Given the description of an element on the screen output the (x, y) to click on. 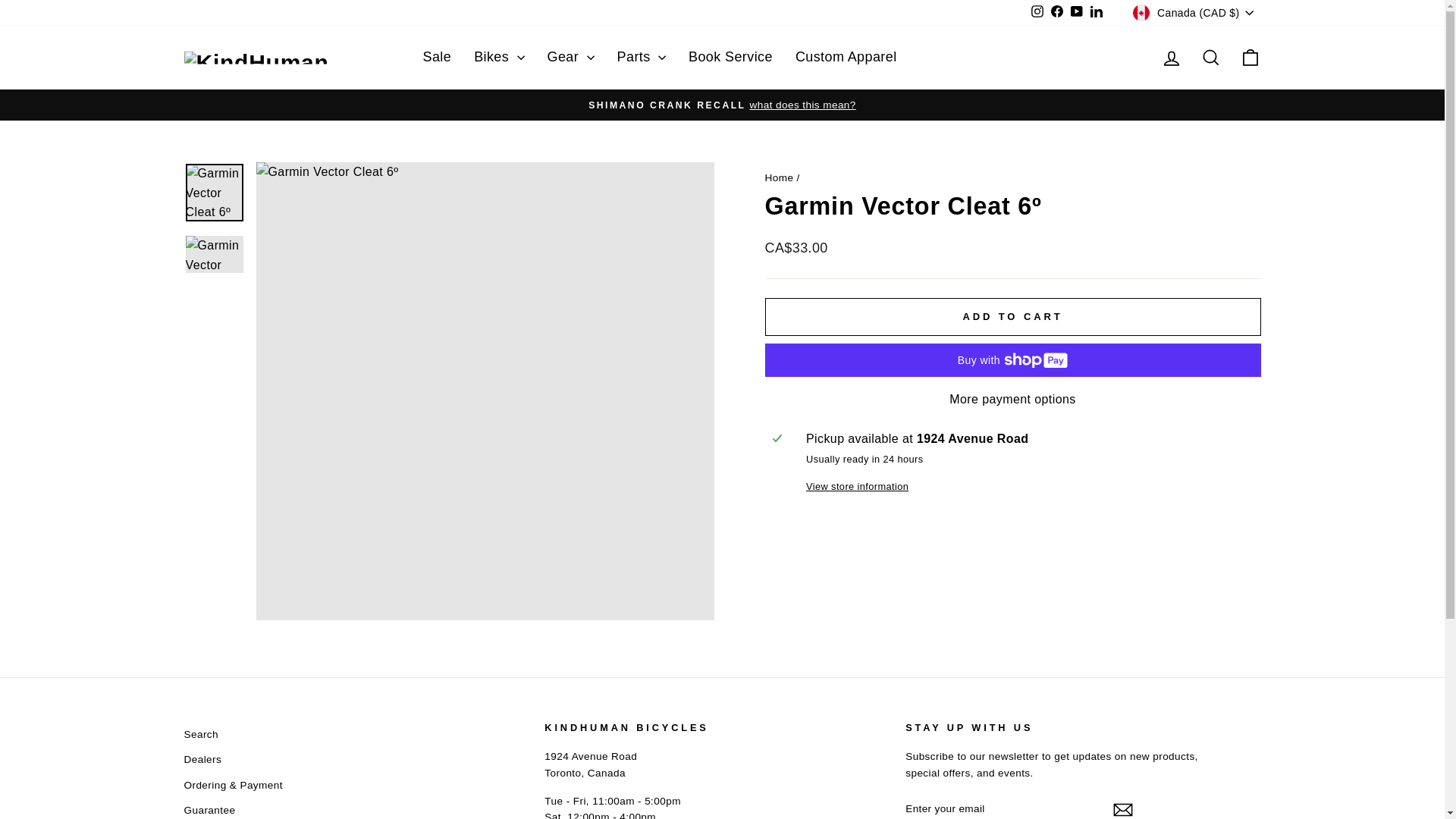
Facebook Element type: text (1056, 12)
View store information Element type: text (1029, 486)
Ordering & Payment Element type: text (232, 785)
Dealers Element type: text (202, 759)
ADD TO CART Element type: text (1012, 316)
Book Service Element type: text (730, 57)
SHIMANO CRANK RECALLwhat does this mean? Element type: text (722, 105)
Sale Element type: text (436, 57)
icon-search
Search Element type: text (1210, 57)
Home Element type: text (778, 177)
instagram
Instagram Element type: text (1037, 12)
icon-bag-minimal
Cart Element type: text (1249, 57)
Search Element type: text (200, 734)
Canada (CAD $) Element type: text (1195, 12)
Custom Apparel Element type: text (846, 57)
LinkedIn Element type: text (1096, 12)
YouTube Element type: text (1076, 12)
account
Log in Element type: text (1170, 57)
More payment options Element type: text (1012, 399)
